Given the description of an element on the screen output the (x, y) to click on. 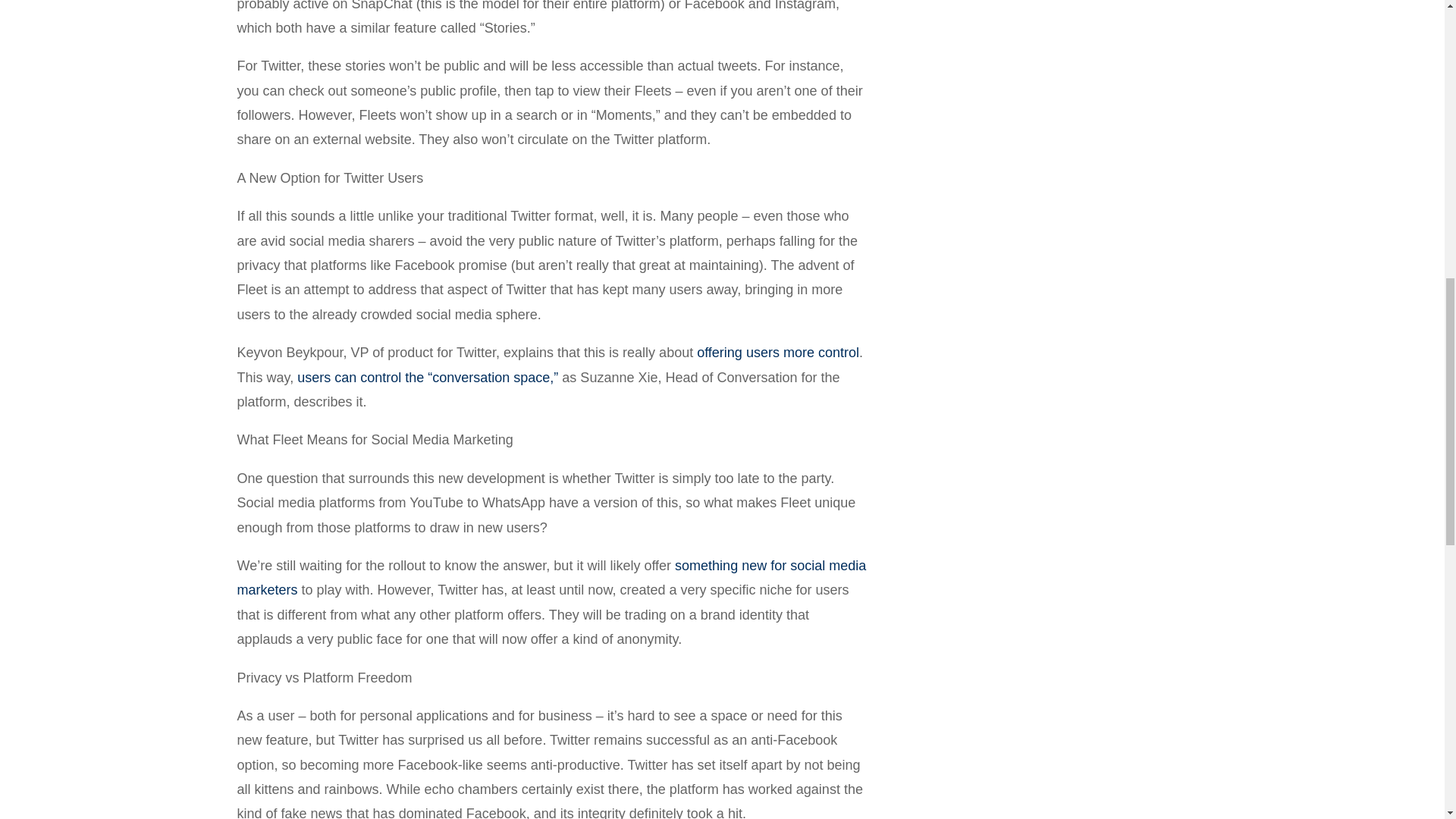
offering users more control (778, 352)
something new for social media marketers (550, 577)
